Given the description of an element on the screen output the (x, y) to click on. 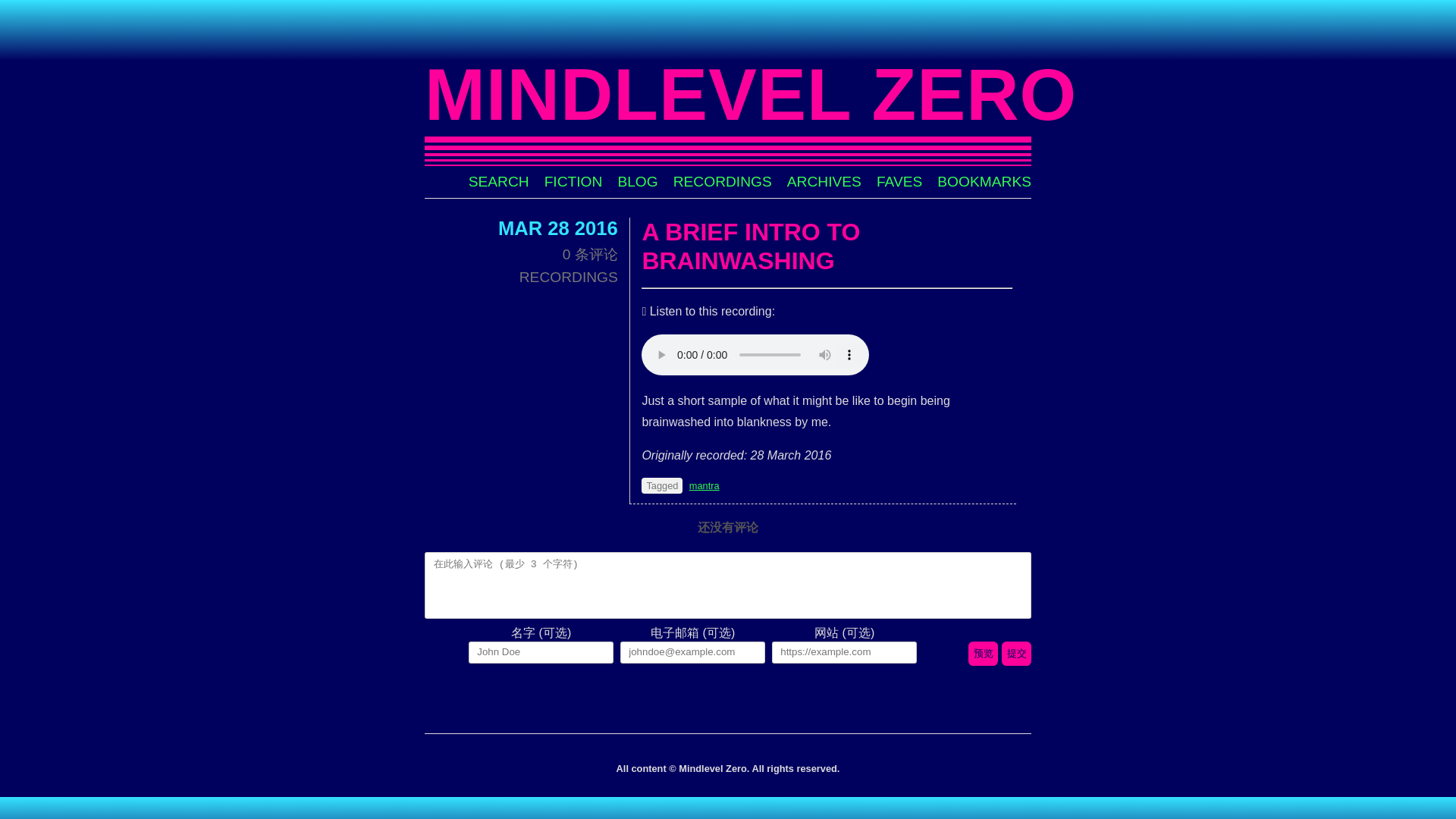
View all posts in recordings (568, 277)
BLOG (637, 181)
MINDLEVEL ZERO (751, 94)
FAVES (898, 181)
SEARCH (498, 181)
Permalink to A Brief Intro to Brainwashing (751, 246)
Comment on A Brief Intro to Brainwashing (589, 254)
A BRIEF INTRO TO BRAINWASHING (751, 246)
mantra (703, 485)
RECORDINGS (568, 277)
